Given the description of an element on the screen output the (x, y) to click on. 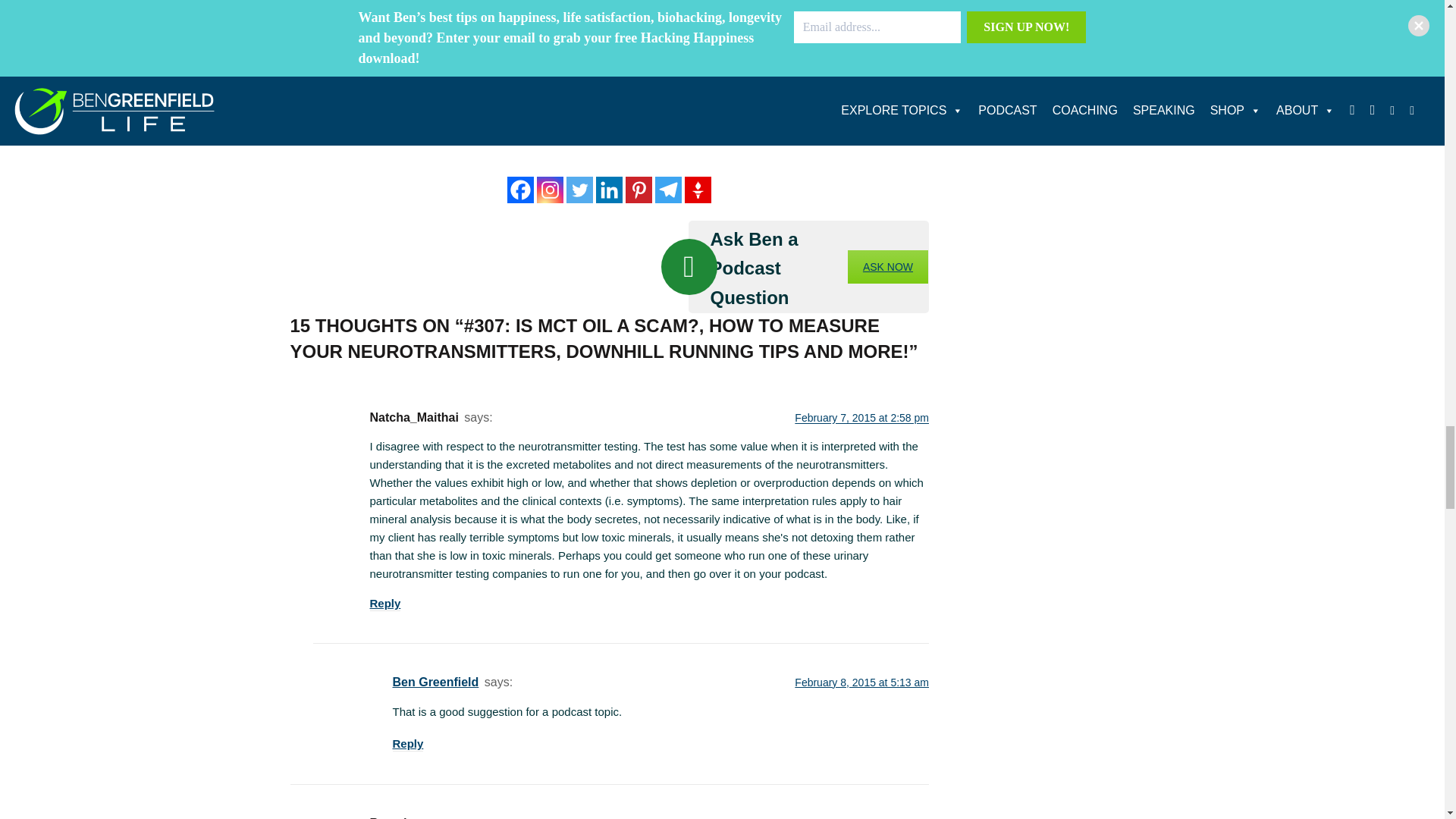
Instagram (550, 189)
Gettr (697, 189)
Twitter (579, 189)
Telegram (668, 189)
Pinterest (639, 189)
Facebook (520, 189)
Linkedin (609, 189)
